Given the description of an element on the screen output the (x, y) to click on. 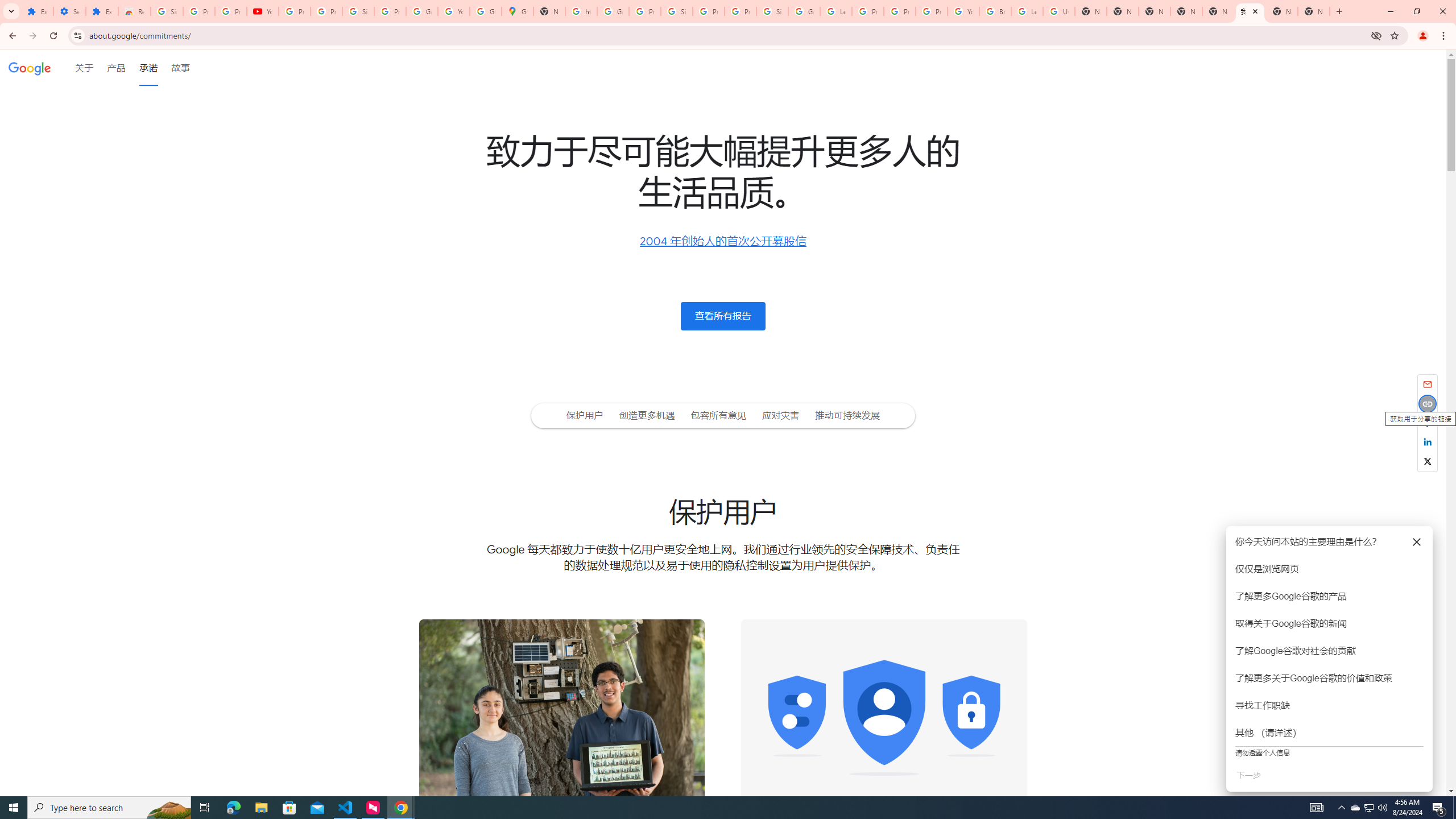
YouTube (453, 11)
Google Account (421, 11)
Sign in - Google Accounts (358, 11)
